Given the description of an element on the screen output the (x, y) to click on. 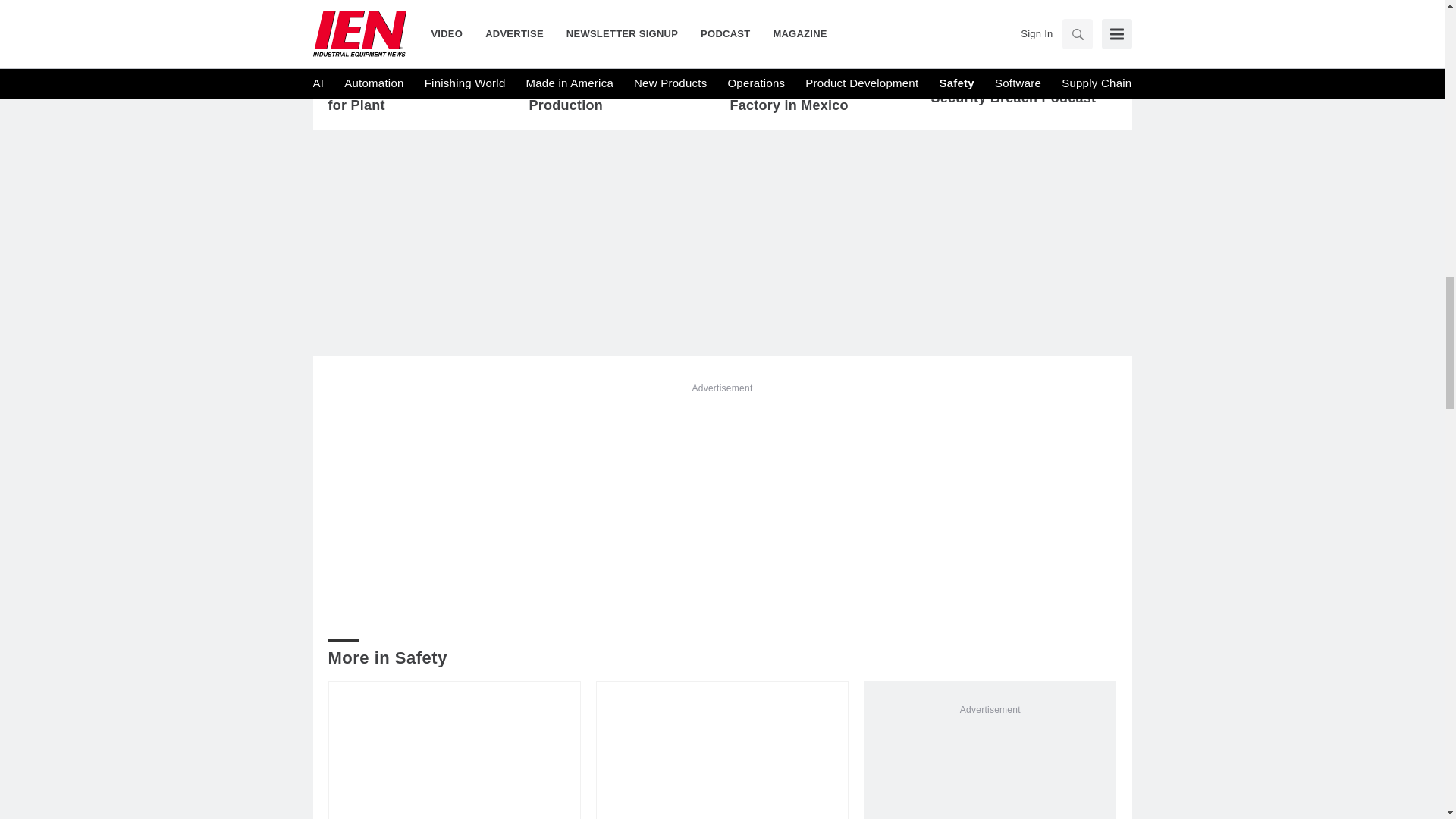
Safety (760, 61)
Sponsor Content (996, 66)
Operations (574, 61)
Operations (373, 61)
